Given the description of an element on the screen output the (x, y) to click on. 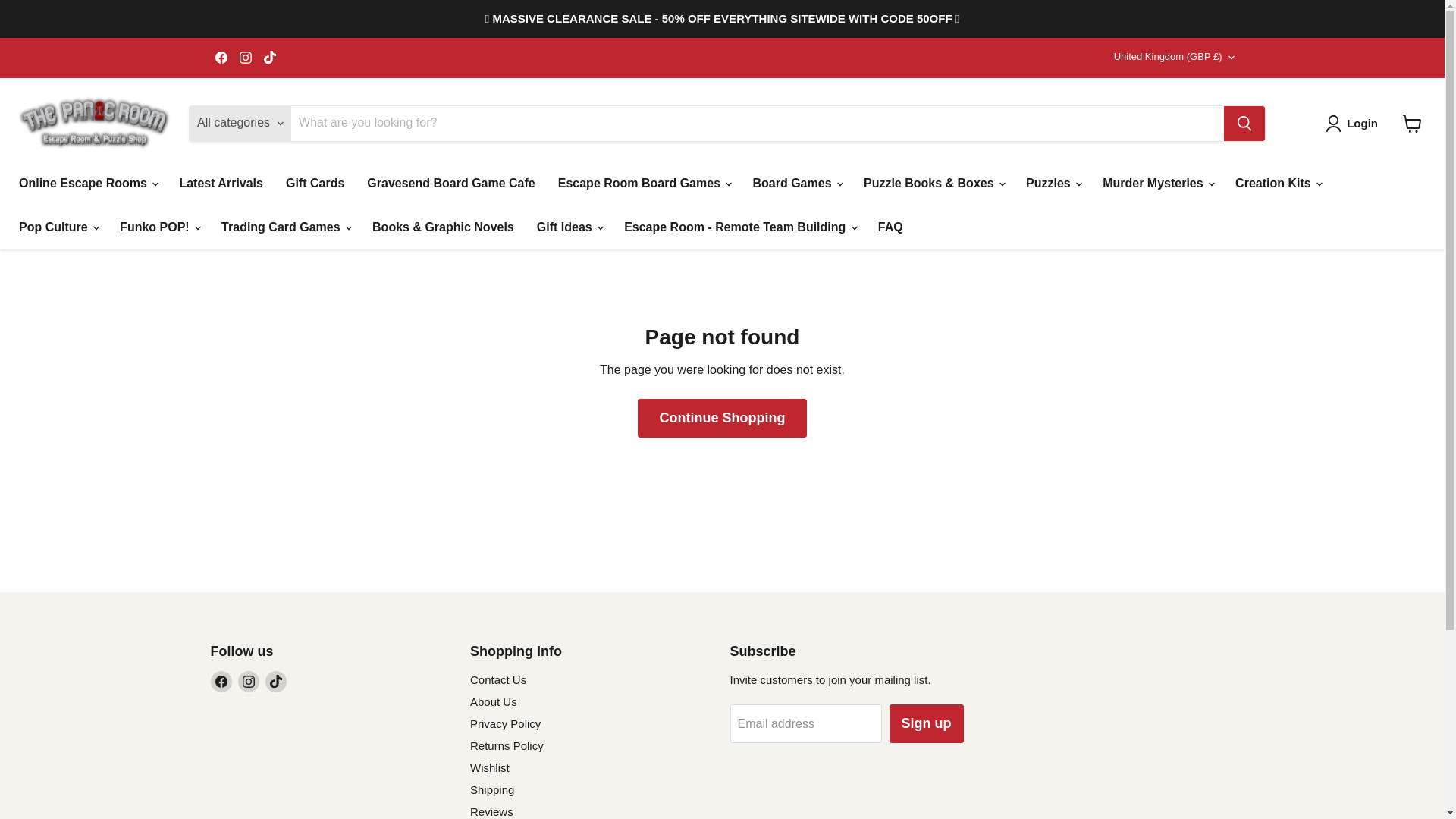
Instagram (245, 56)
Find us on Instagram (245, 56)
Find us on Facebook (221, 56)
TikTok (270, 56)
Facebook (221, 56)
Facebook (221, 681)
TikTok (275, 681)
Find us on TikTok (270, 56)
Instagram (248, 681)
